Given the description of an element on the screen output the (x, y) to click on. 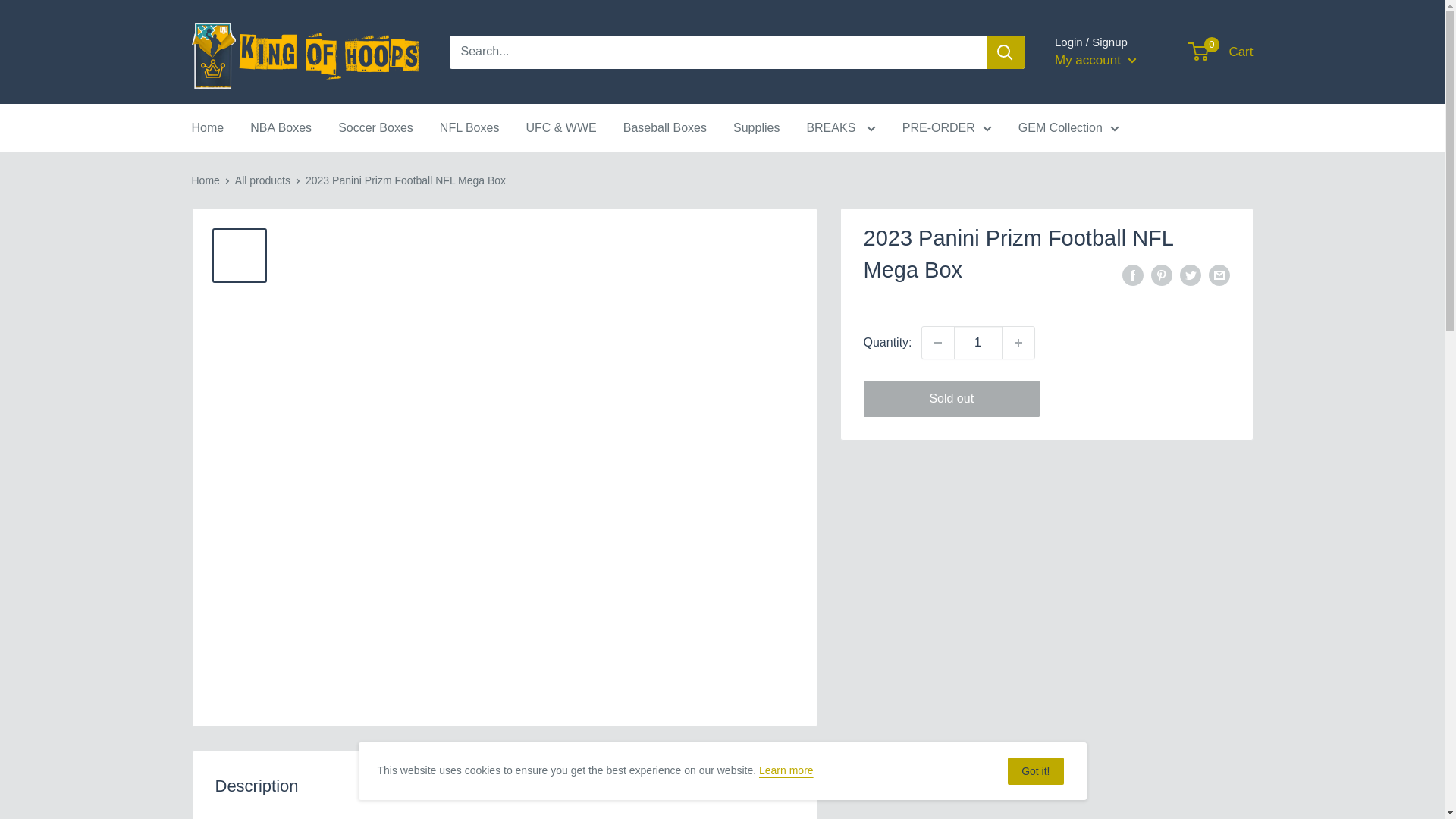
King of Hoops (304, 51)
Cookies policy (785, 770)
Increase quantity by 1 (1018, 342)
Decrease quantity by 1 (937, 342)
1 (978, 342)
